Given the description of an element on the screen output the (x, y) to click on. 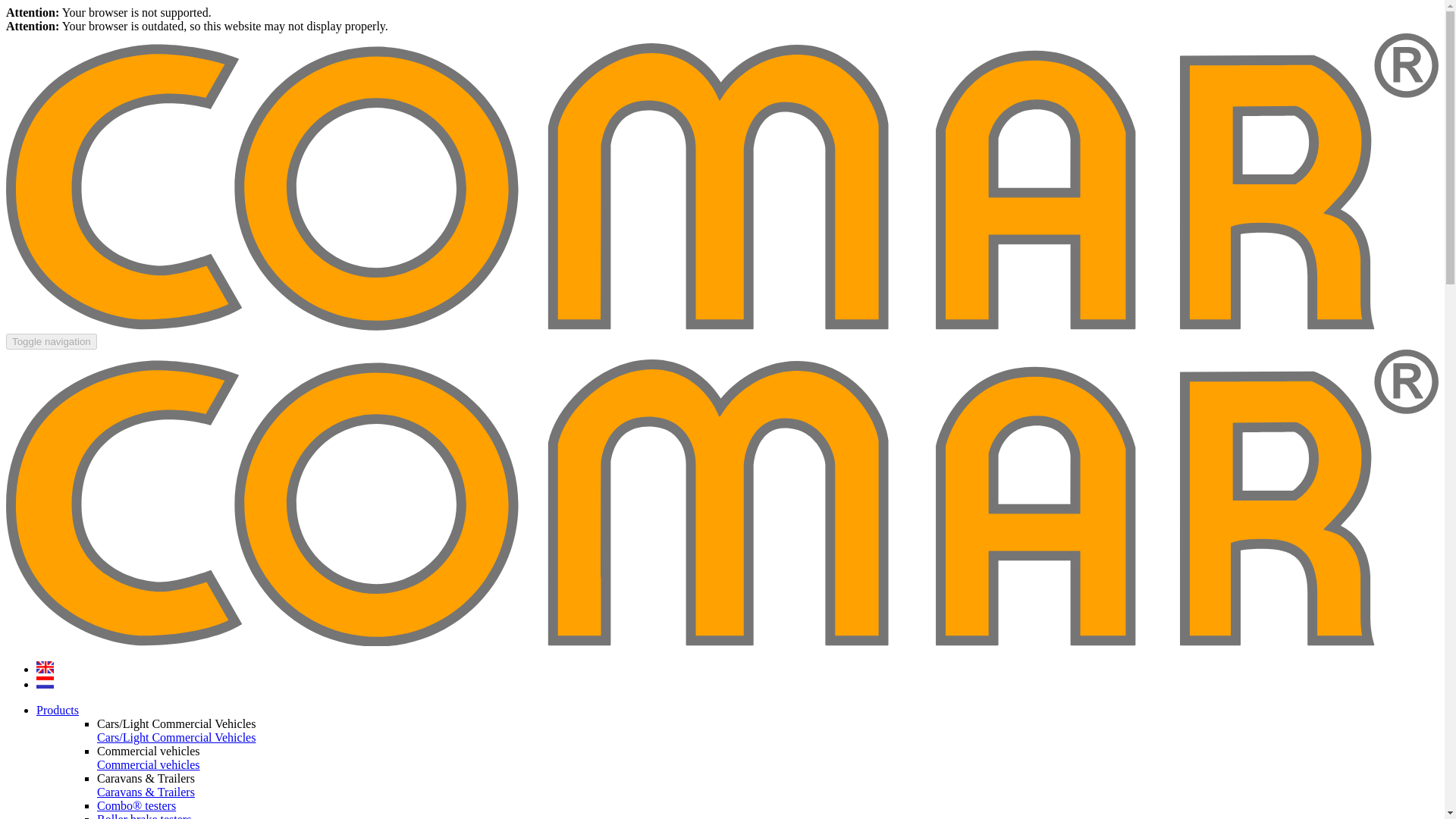
Nederlands (44, 684)
Products (57, 709)
Commercial vehicles (148, 764)
Toggle navigation (51, 341)
Roller brake testers (143, 816)
English (44, 668)
